Given the description of an element on the screen output the (x, y) to click on. 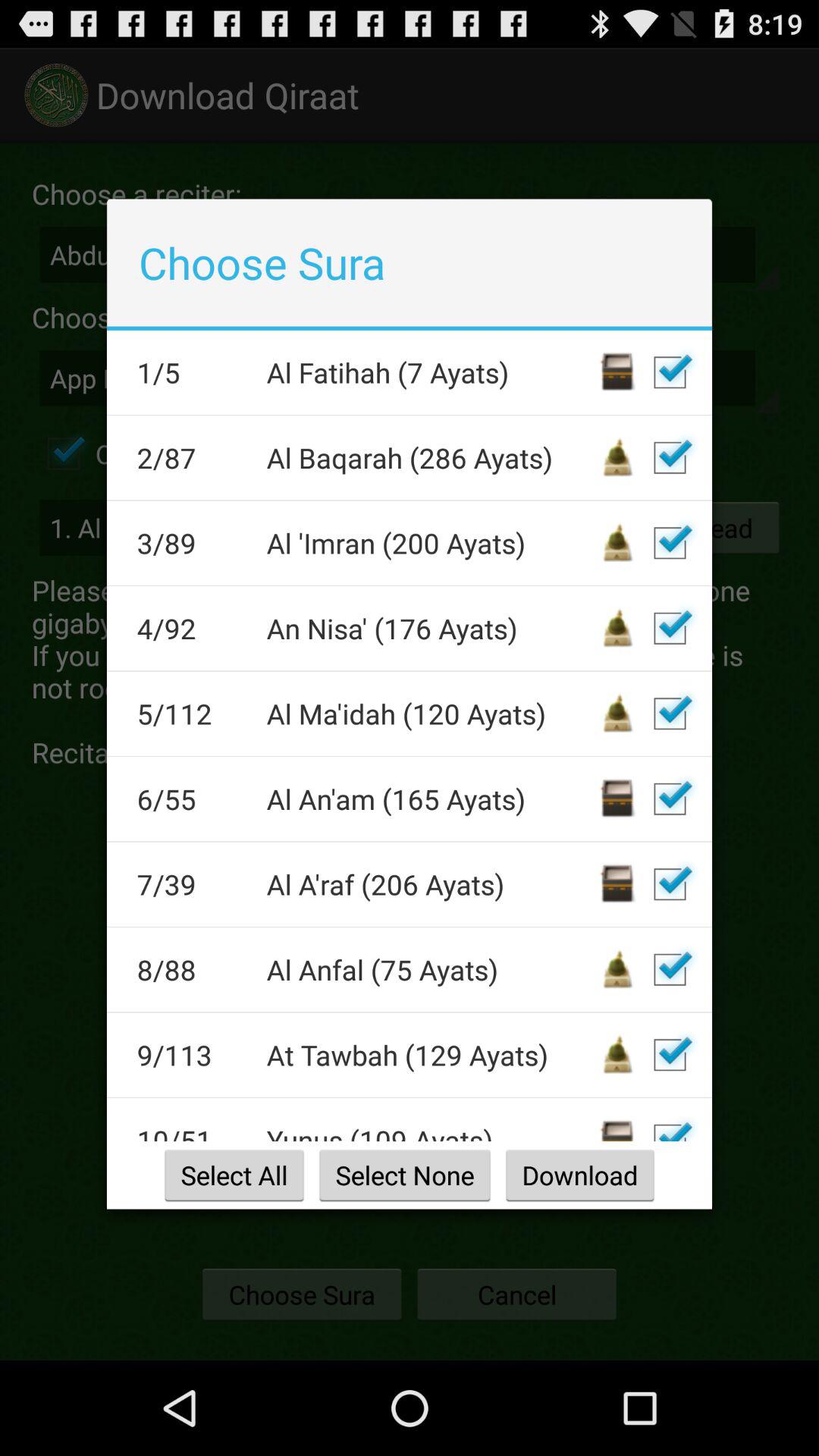
select a sura (669, 798)
